Given the description of an element on the screen output the (x, y) to click on. 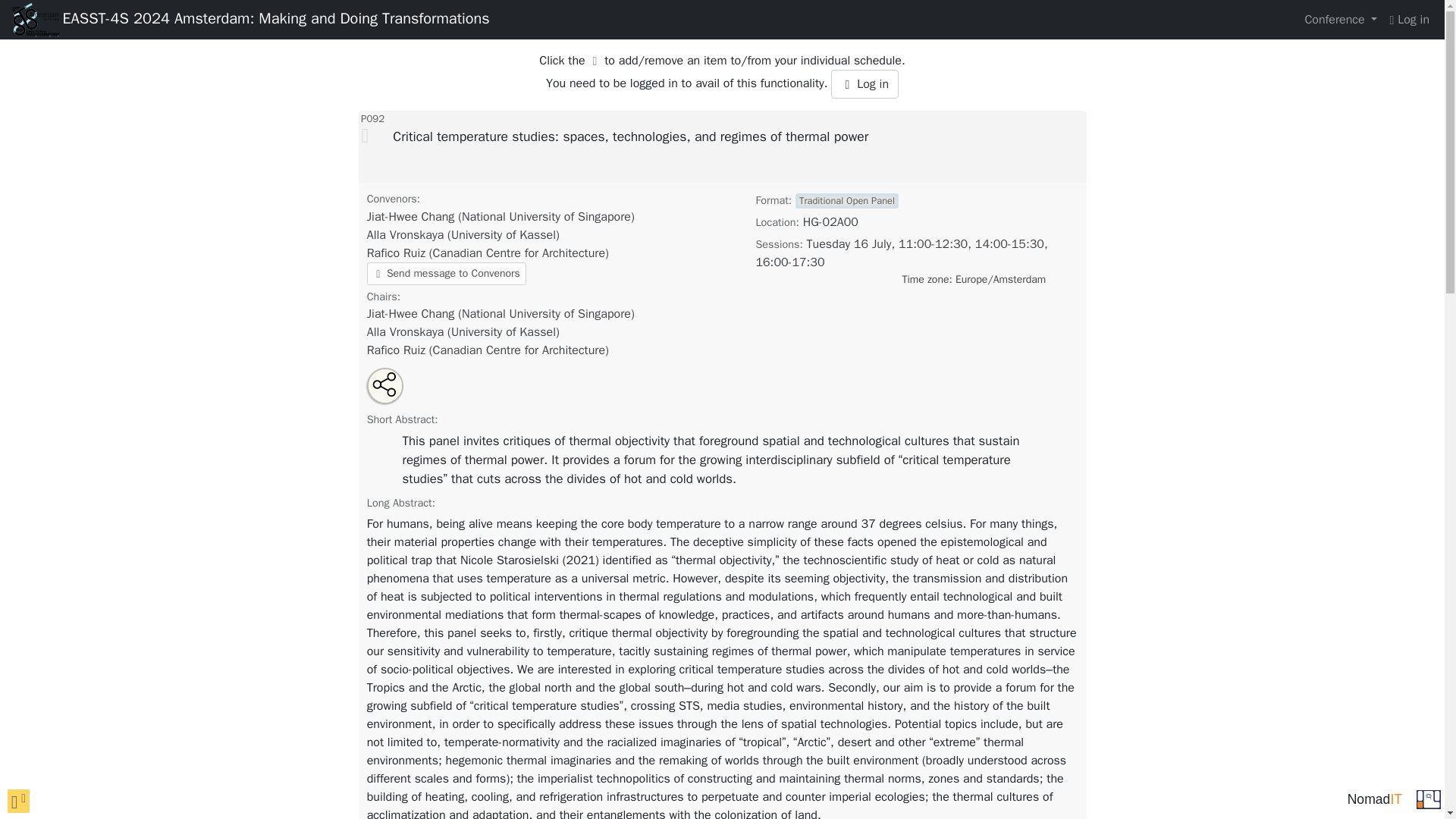
NomadIT (1374, 798)
Chair (487, 350)
Email this traditional open panel link (395, 393)
Log in (864, 83)
Chair (500, 313)
Open an email with this traditional open panel link (395, 393)
Chair (462, 331)
Conference (1340, 19)
 Log in (1409, 19)
Log in (864, 83)
click to toggle popover (17, 800)
Convenor (487, 253)
Convenor (462, 234)
Convenor (500, 216)
